Given the description of an element on the screen output the (x, y) to click on. 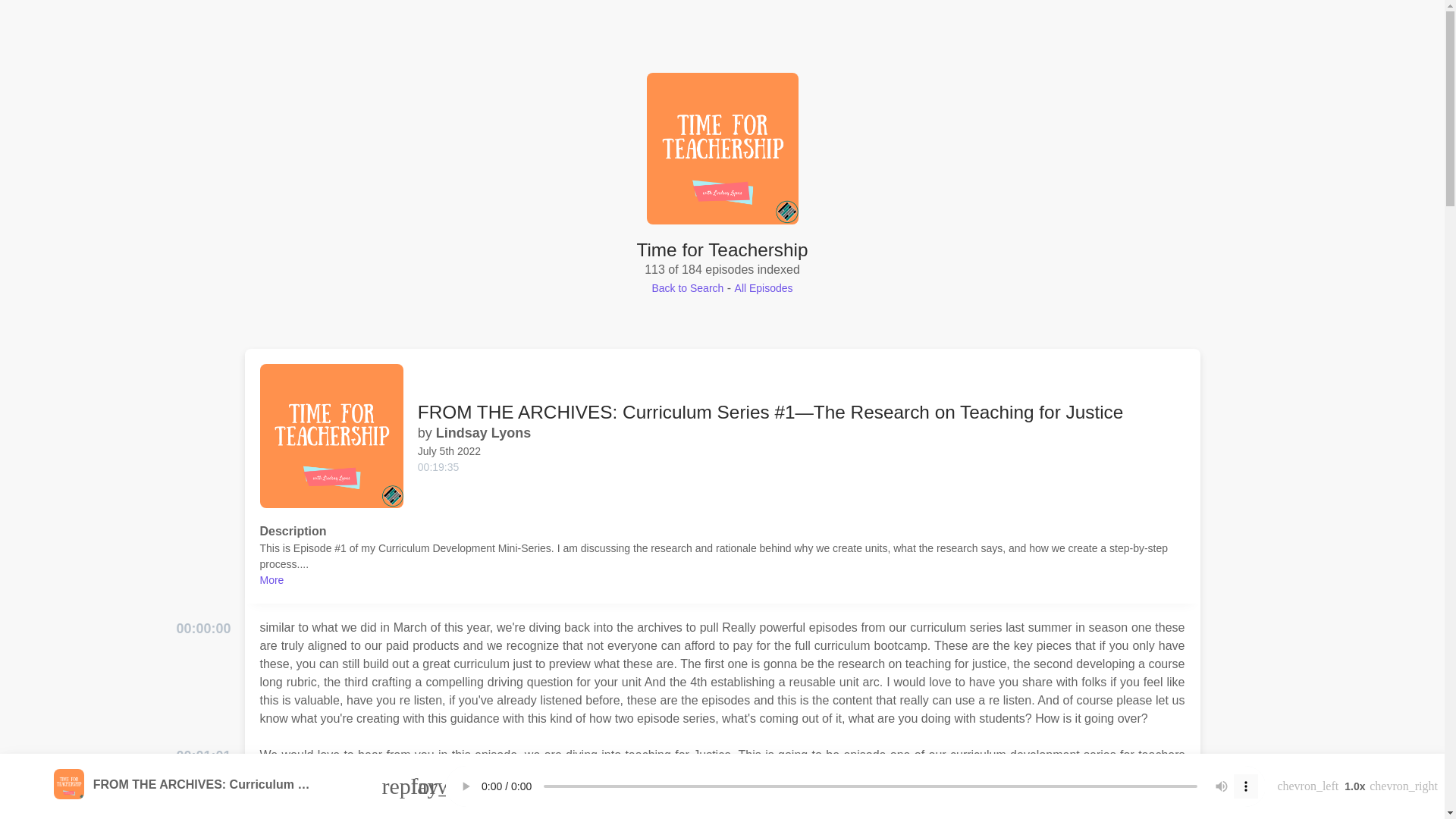
All Episodes (764, 287)
00:01:01 (203, 756)
Back to Search (686, 287)
00:00:00 (203, 629)
More (271, 580)
